Given the description of an element on the screen output the (x, y) to click on. 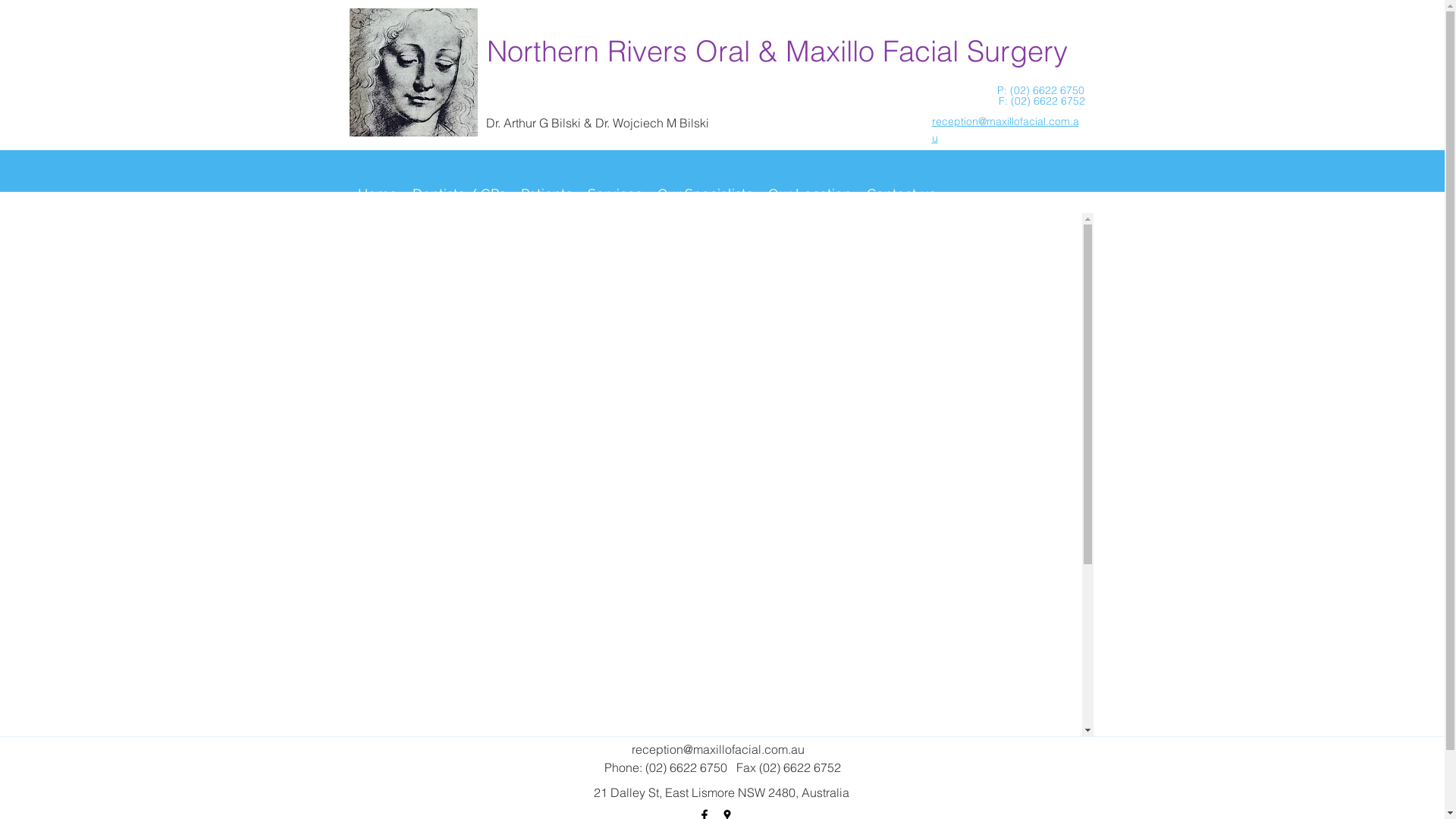
reception@maxillofacial.com.au Element type: text (1004, 129)
Patients Element type: text (545, 193)
Contact us Element type: text (900, 193)
reception@maxillofacial.com.au Element type: text (716, 748)
Embedded Content Element type: hover (721, 474)
Home Element type: text (377, 193)
Our Specialists Element type: text (704, 193)
head_of_a_young_girl_med.jpeg Element type: hover (412, 72)
Our Location Element type: text (808, 193)
